Given the description of an element on the screen output the (x, y) to click on. 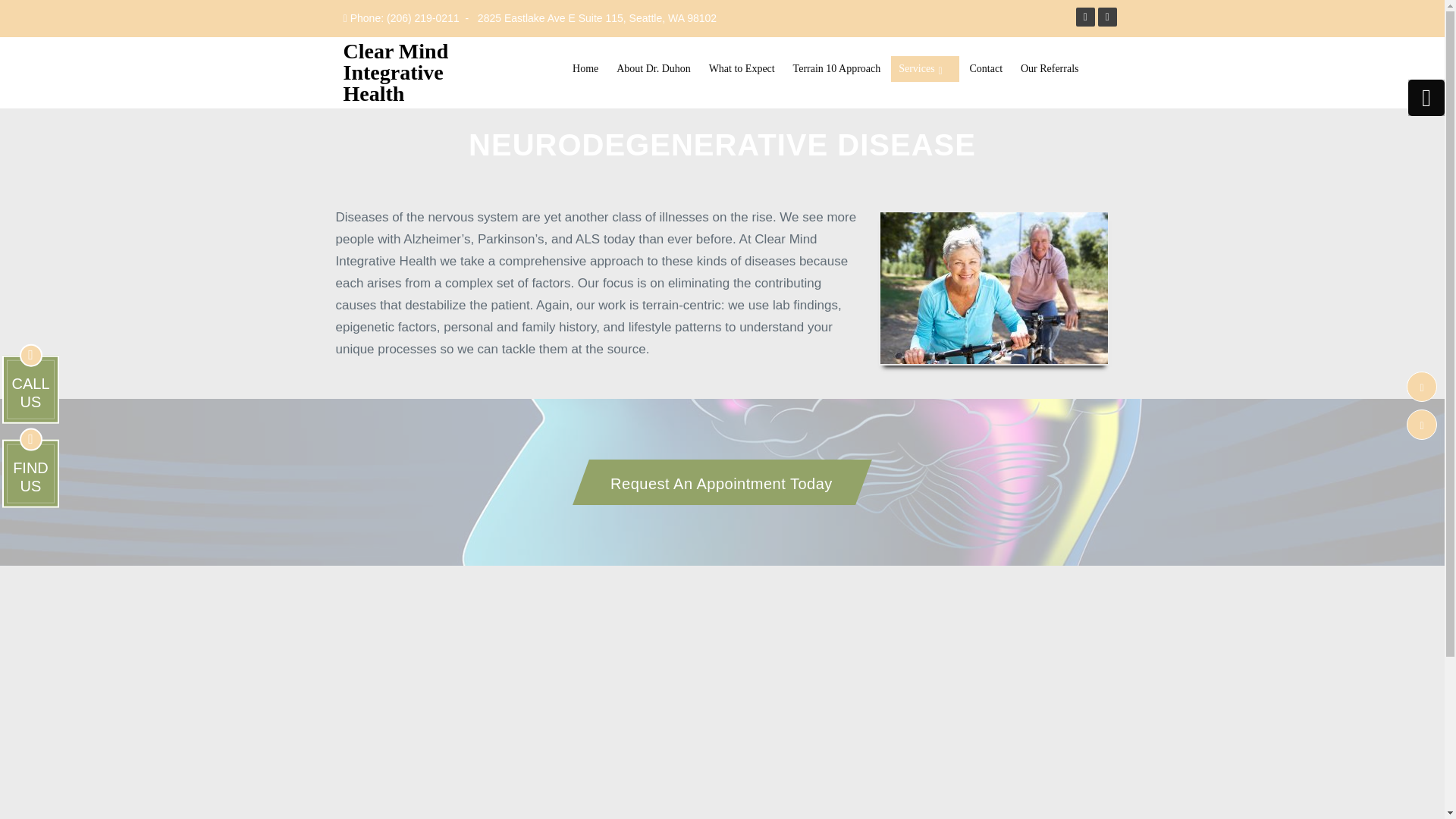
Request An Appointment Today (714, 482)
2825 Eastlake Ave E Suite 115, Seattle, WA 98102 (596, 18)
Services (924, 68)
What to Expect (742, 68)
Home (584, 68)
Our Referrals (1049, 68)
Clear Mind Integrative Health (411, 72)
Contact (985, 68)
About Dr. Duhon (133, 505)
Terrain 10 Approach (653, 68)
